Given the description of an element on the screen output the (x, y) to click on. 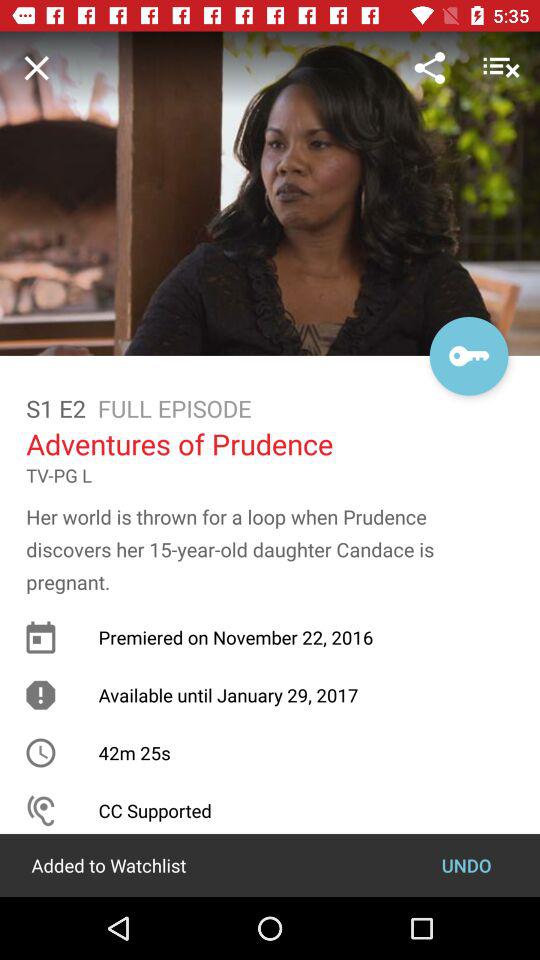
select the icon below the her world is icon (466, 864)
